Given the description of an element on the screen output the (x, y) to click on. 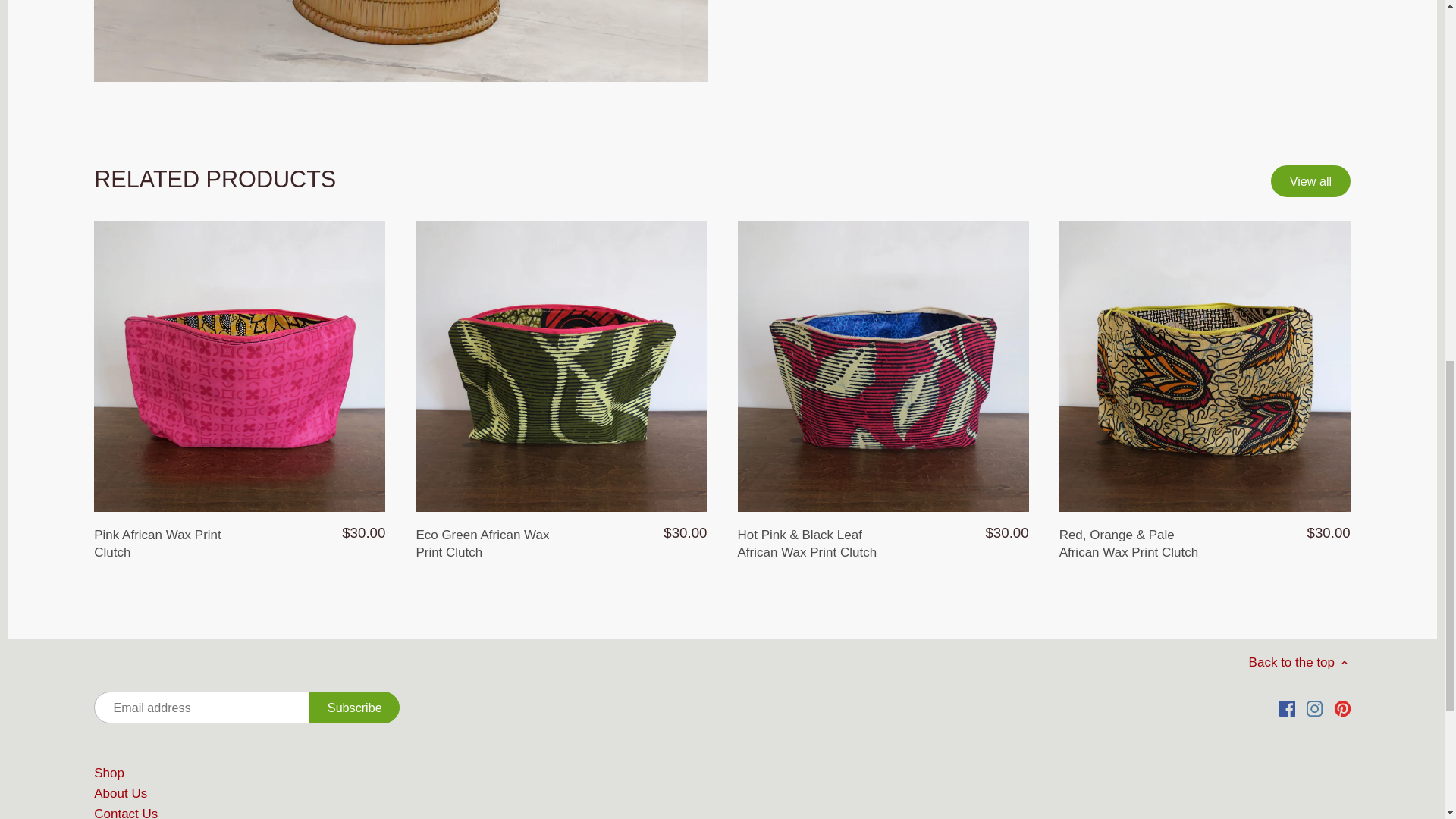
Subscribe (353, 707)
Instagram (1314, 708)
Pink African Wax Print Clutch (167, 542)
Eco Green African Wax Print Clutch (487, 542)
Facebook (1287, 708)
Pinterest (1343, 708)
View all (1311, 181)
